Given the description of an element on the screen output the (x, y) to click on. 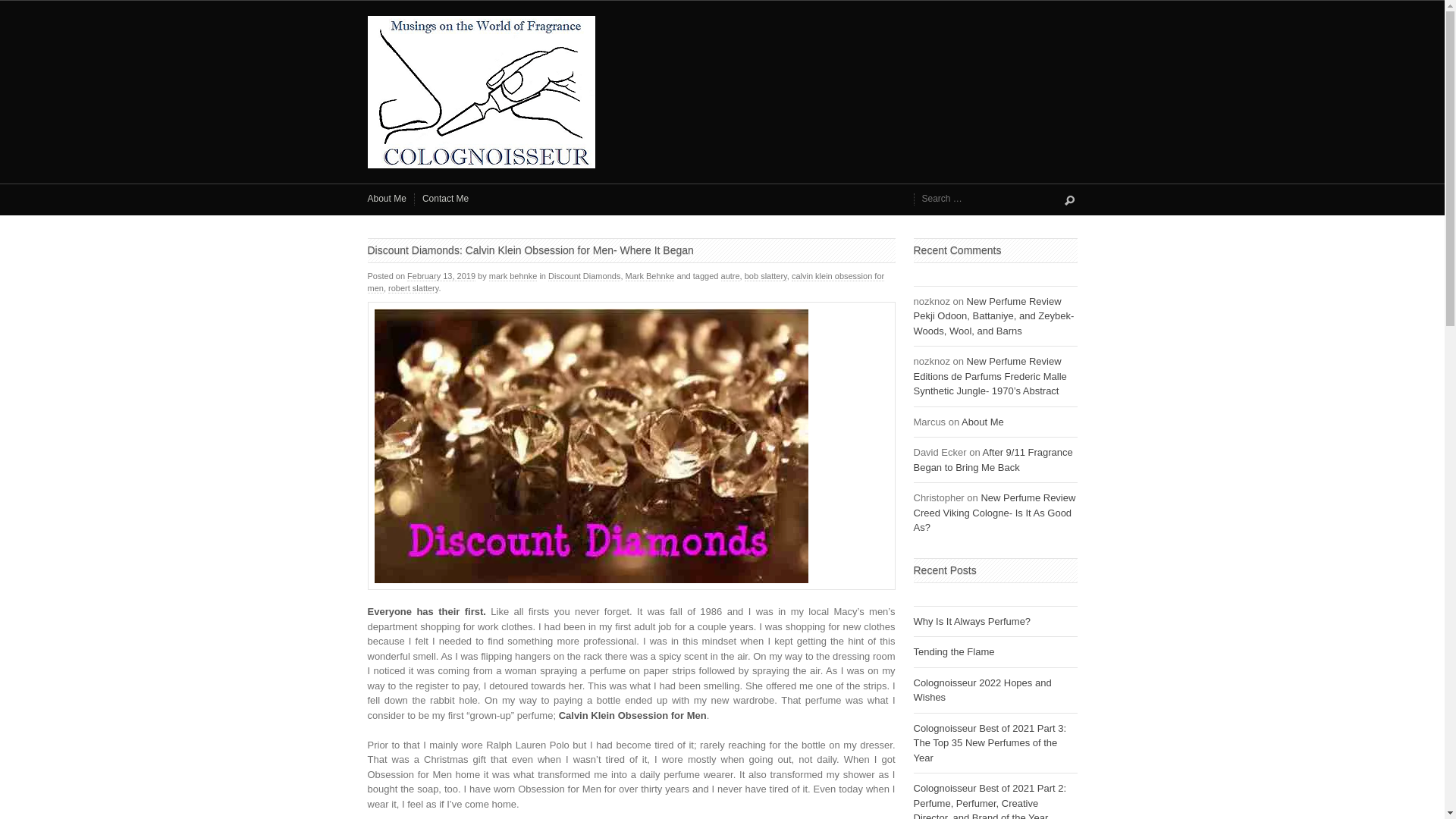
calvin klein obsession for men (624, 282)
robert slattery (413, 288)
View all posts by mark behnke (513, 276)
bob slattery (765, 276)
Colognoisseur (721, 91)
About Me (982, 421)
autre (729, 276)
Mark Behnke (650, 276)
mark behnke (513, 276)
Discount Diamonds (584, 276)
Why Is It Always Perfume? (971, 621)
February 13, 2019 (441, 276)
New Perfume Review Creed Viking Cologne- Is It As Good As? (993, 512)
